Given the description of an element on the screen output the (x, y) to click on. 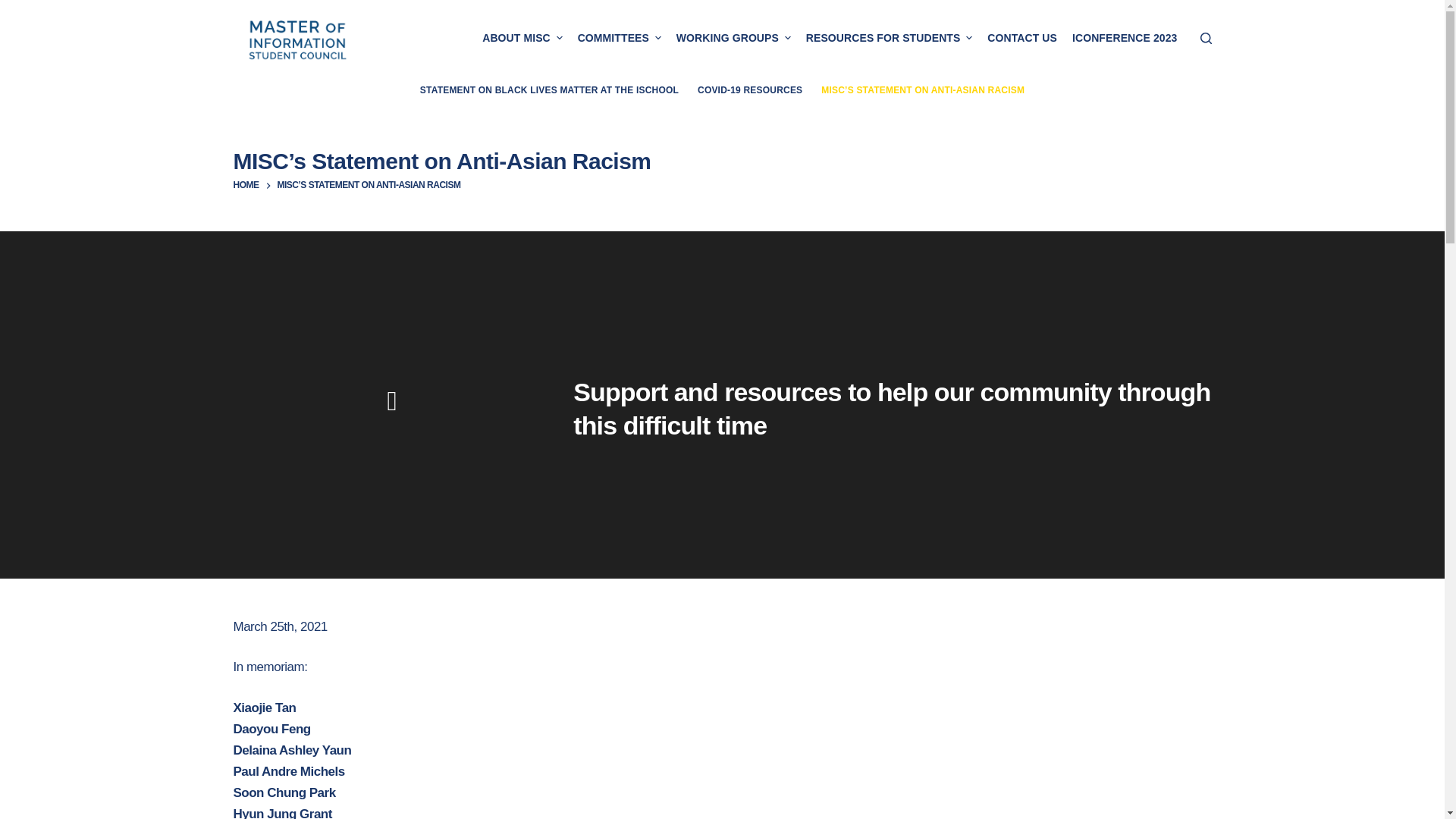
Skip to content (15, 7)
